Given the description of an element on the screen output the (x, y) to click on. 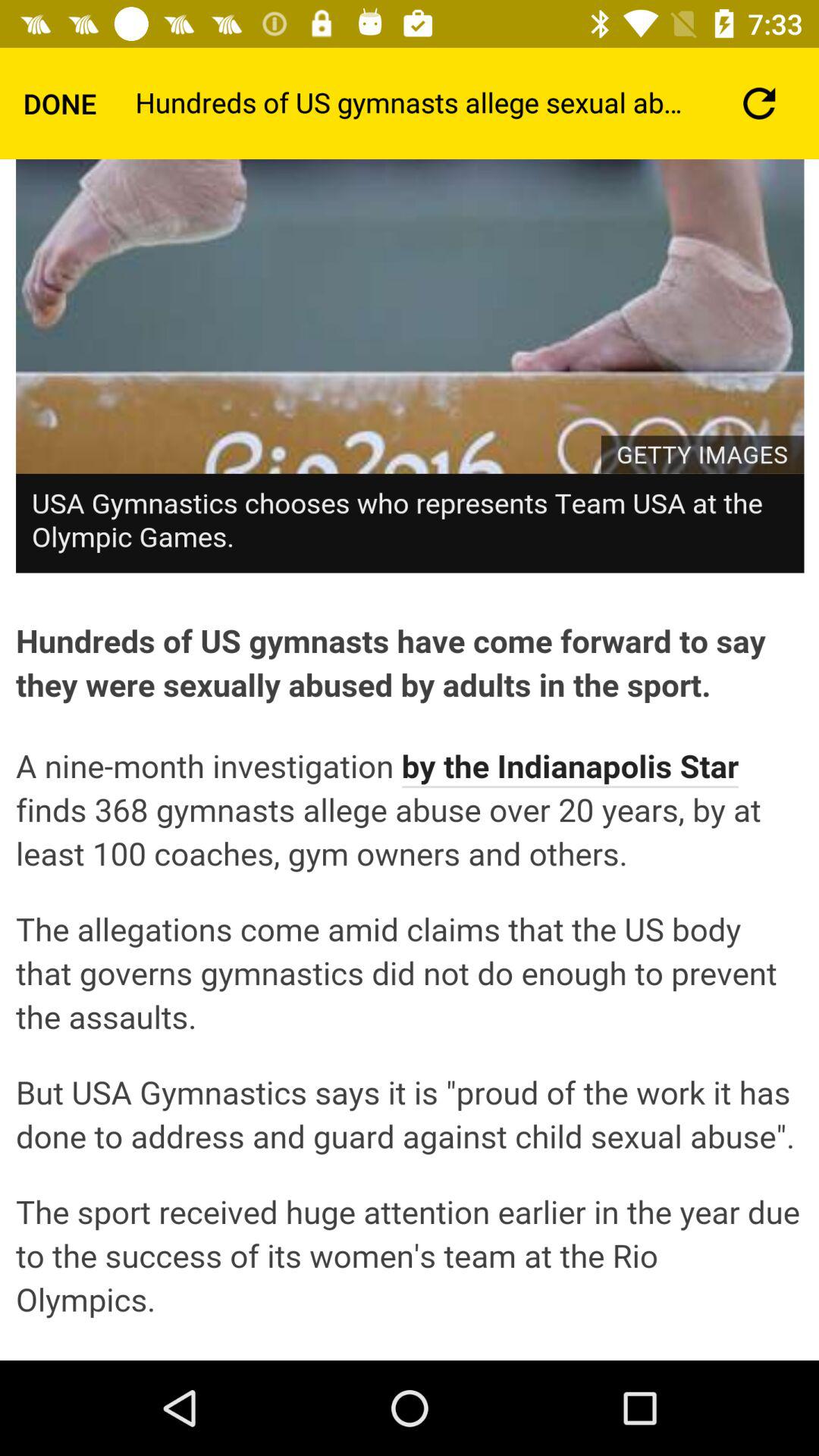
article (409, 759)
